Given the description of an element on the screen output the (x, y) to click on. 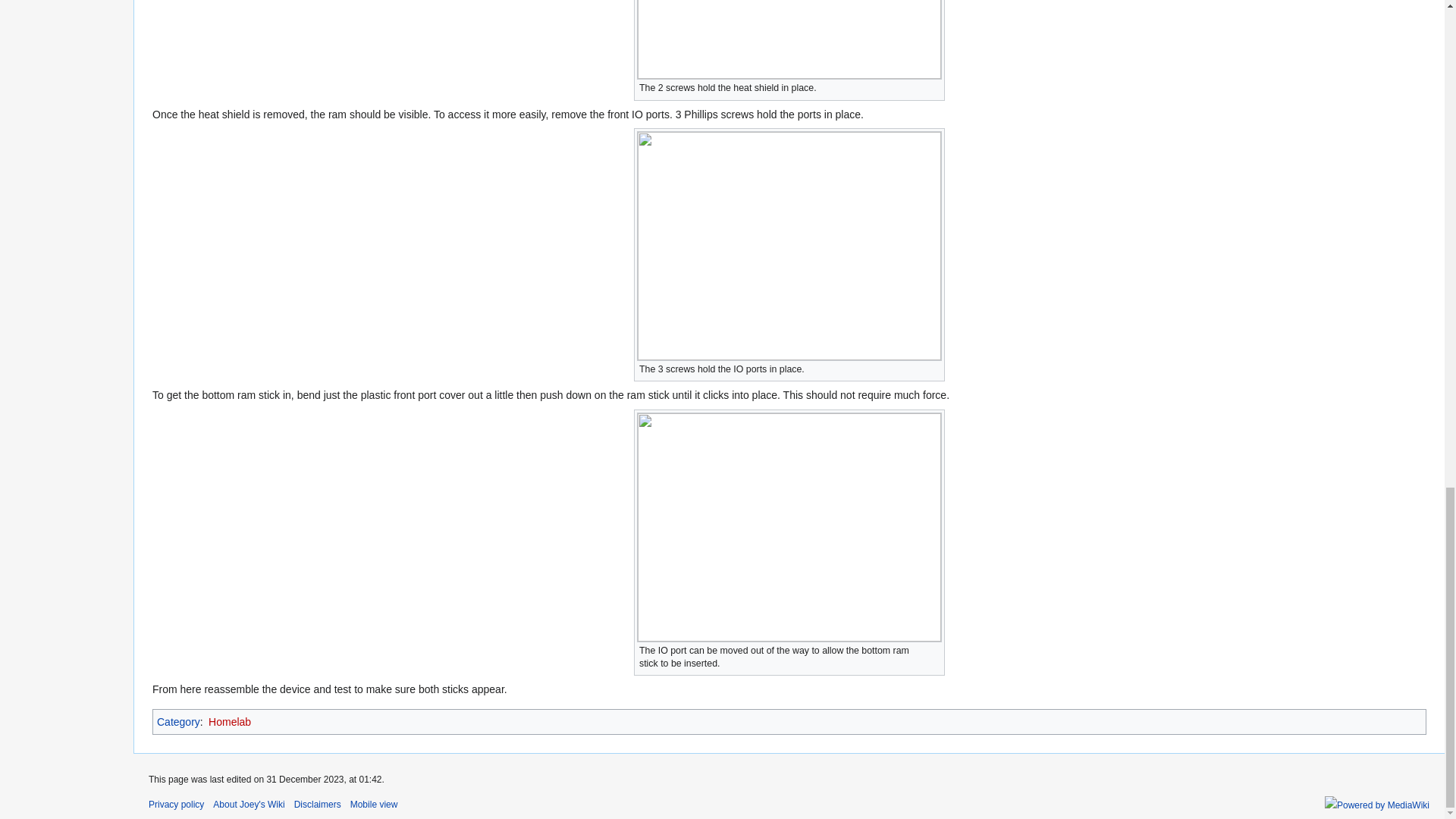
Mobile view (373, 804)
Disclaimers (317, 804)
Special:Categories (178, 721)
Category (178, 721)
Privacy policy (175, 804)
About Joey's Wiki (247, 804)
Homelab (229, 721)
